Given the description of an element on the screen output the (x, y) to click on. 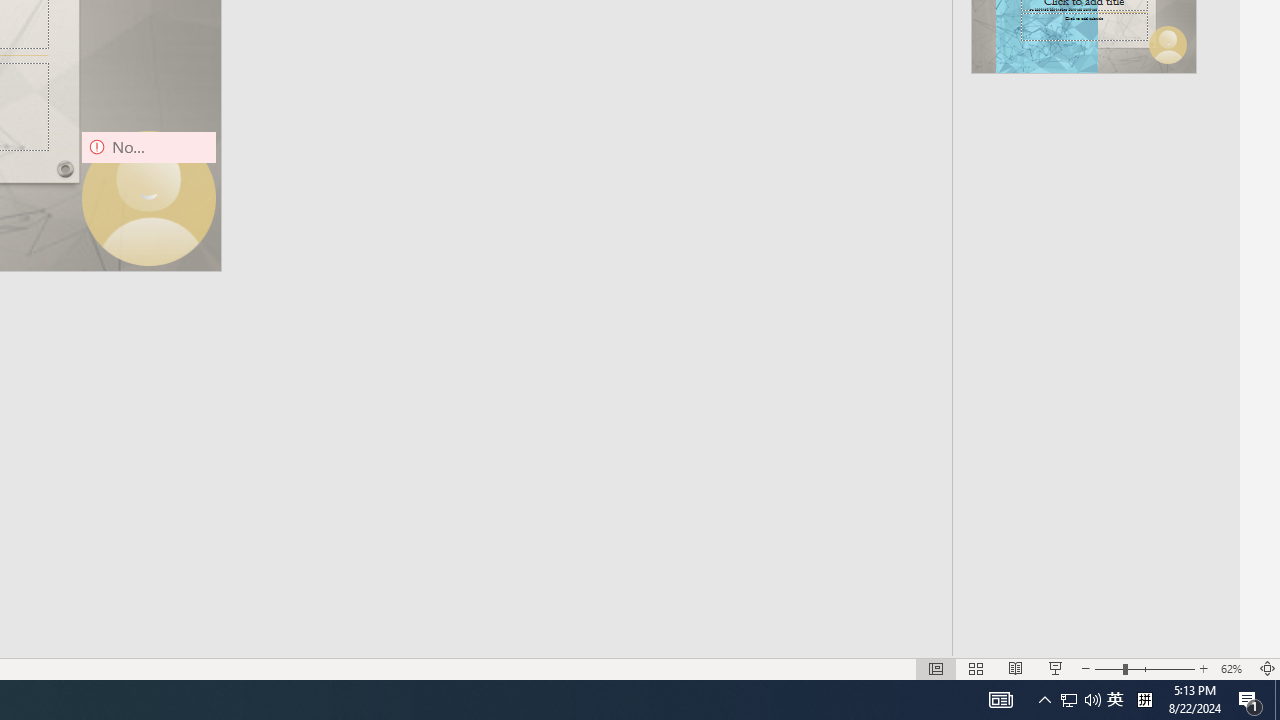
Class: actions-container (1211, 218)
LF (1097, 628)
Show Output Log (1025, 546)
Views and More Actions... (1137, 218)
Close Panel (1230, 218)
More Actions... (1169, 487)
Ln 11, Col 12 (795, 628)
Notification Actions (1191, 487)
Notifications (1232, 628)
